Given the description of an element on the screen output the (x, y) to click on. 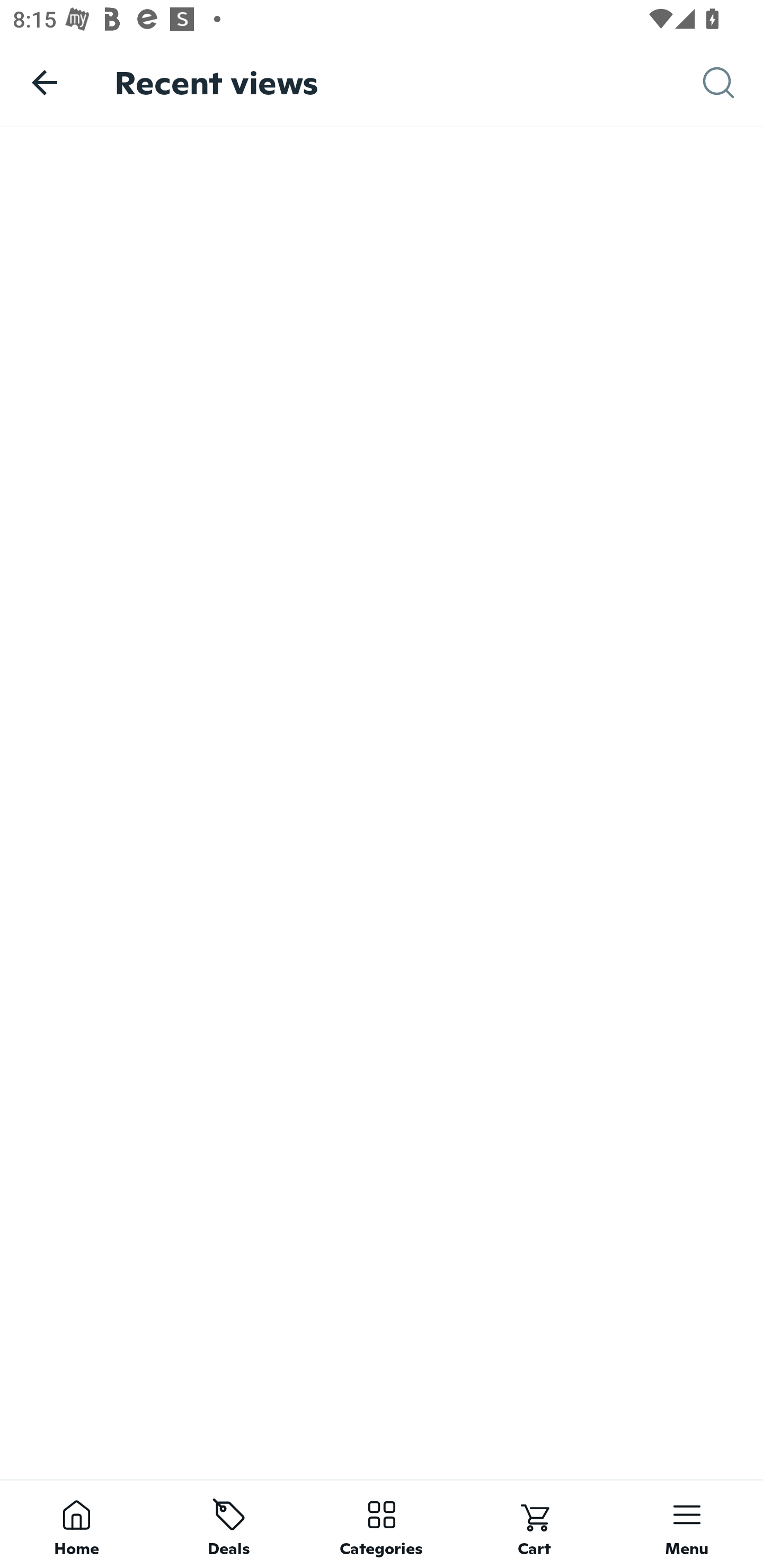
Navigate up (44, 82)
Search (732, 82)
Home (76, 1523)
Deals (228, 1523)
Categories (381, 1523)
Cart (533, 1523)
Menu (686, 1523)
